Given the description of an element on the screen output the (x, y) to click on. 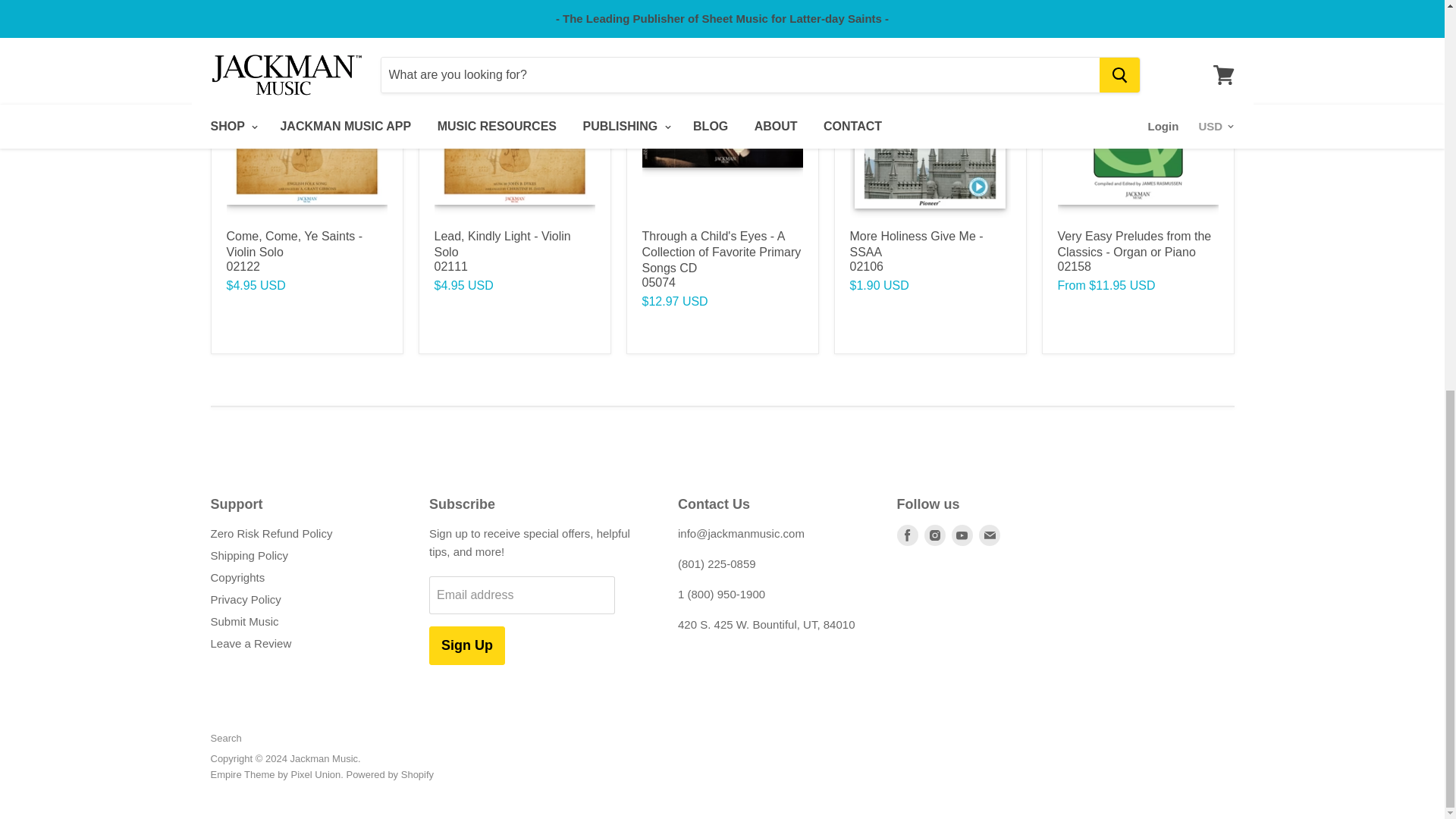
Youtube (961, 534)
Instagram (933, 534)
Facebook (906, 534)
E-mail (989, 534)
